Given the description of an element on the screen output the (x, y) to click on. 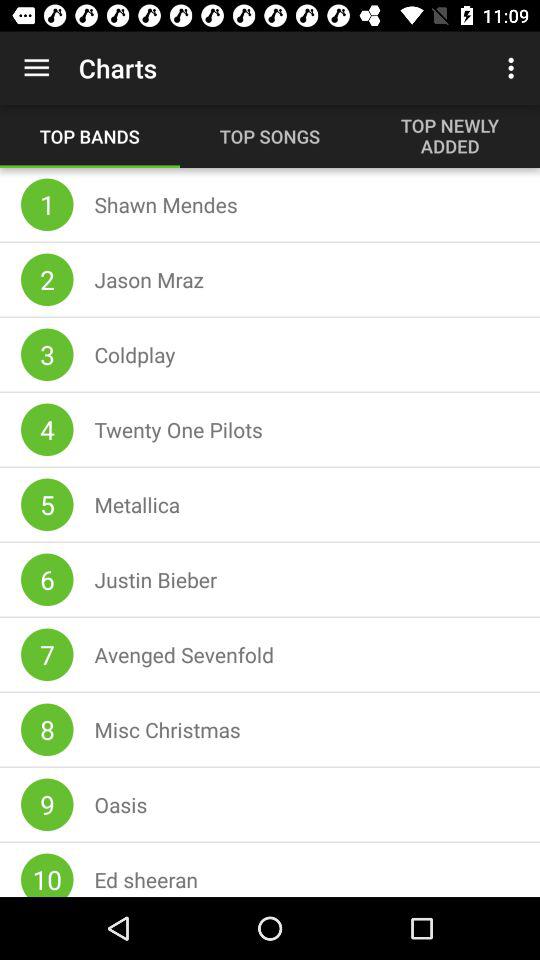
turn on icon next to 10 (146, 879)
